Given the description of an element on the screen output the (x, y) to click on. 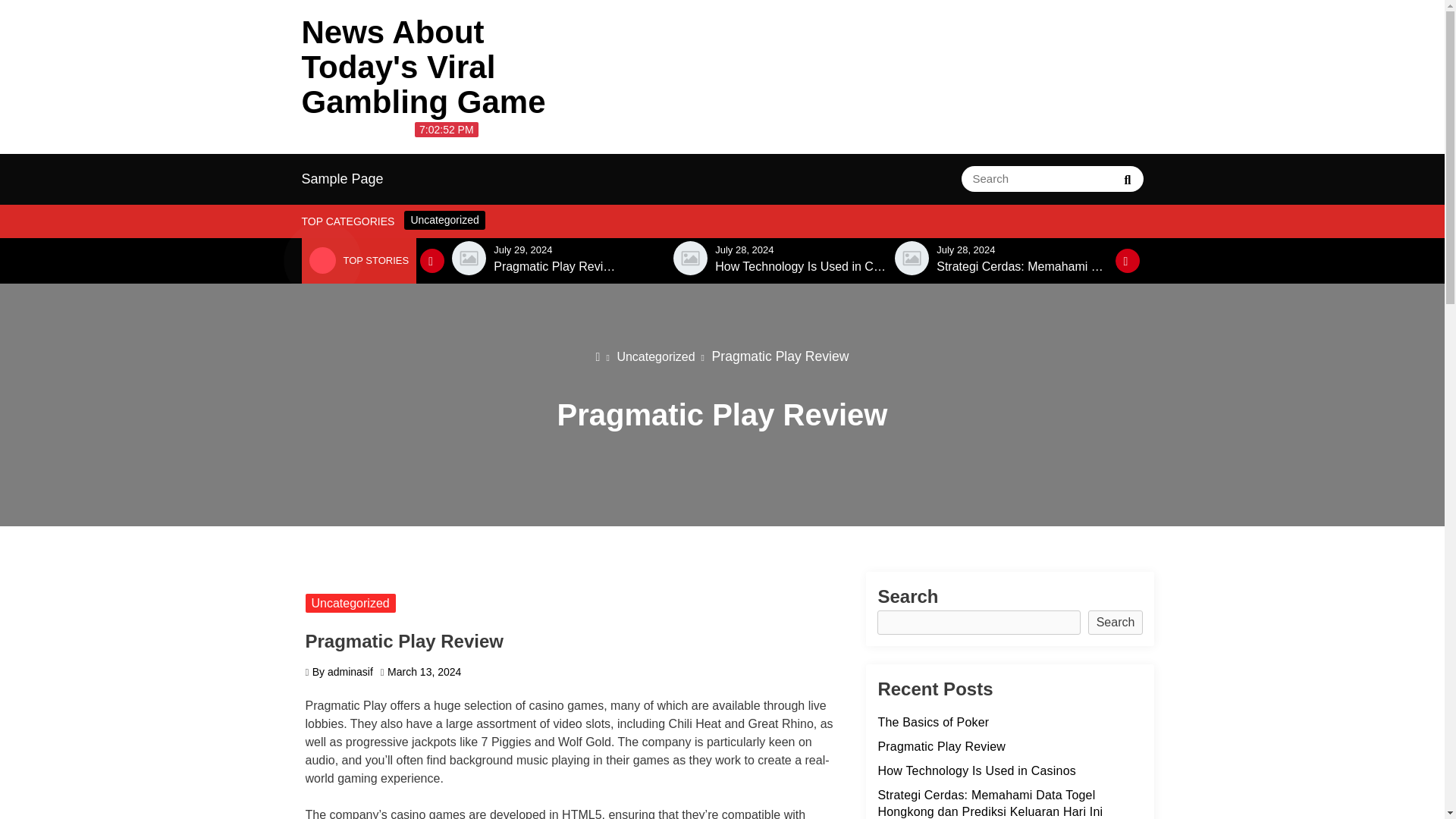
Pragmatic Play Review (555, 266)
Search (1127, 178)
Sample Page (342, 178)
July 29, 2024 (522, 249)
July 28, 2024 (965, 249)
Uncategorized (444, 220)
How Technology Is Used in Casinos (802, 266)
July 28, 2024 (743, 249)
News About Today's Viral Gambling Game (423, 66)
